Given the description of an element on the screen output the (x, y) to click on. 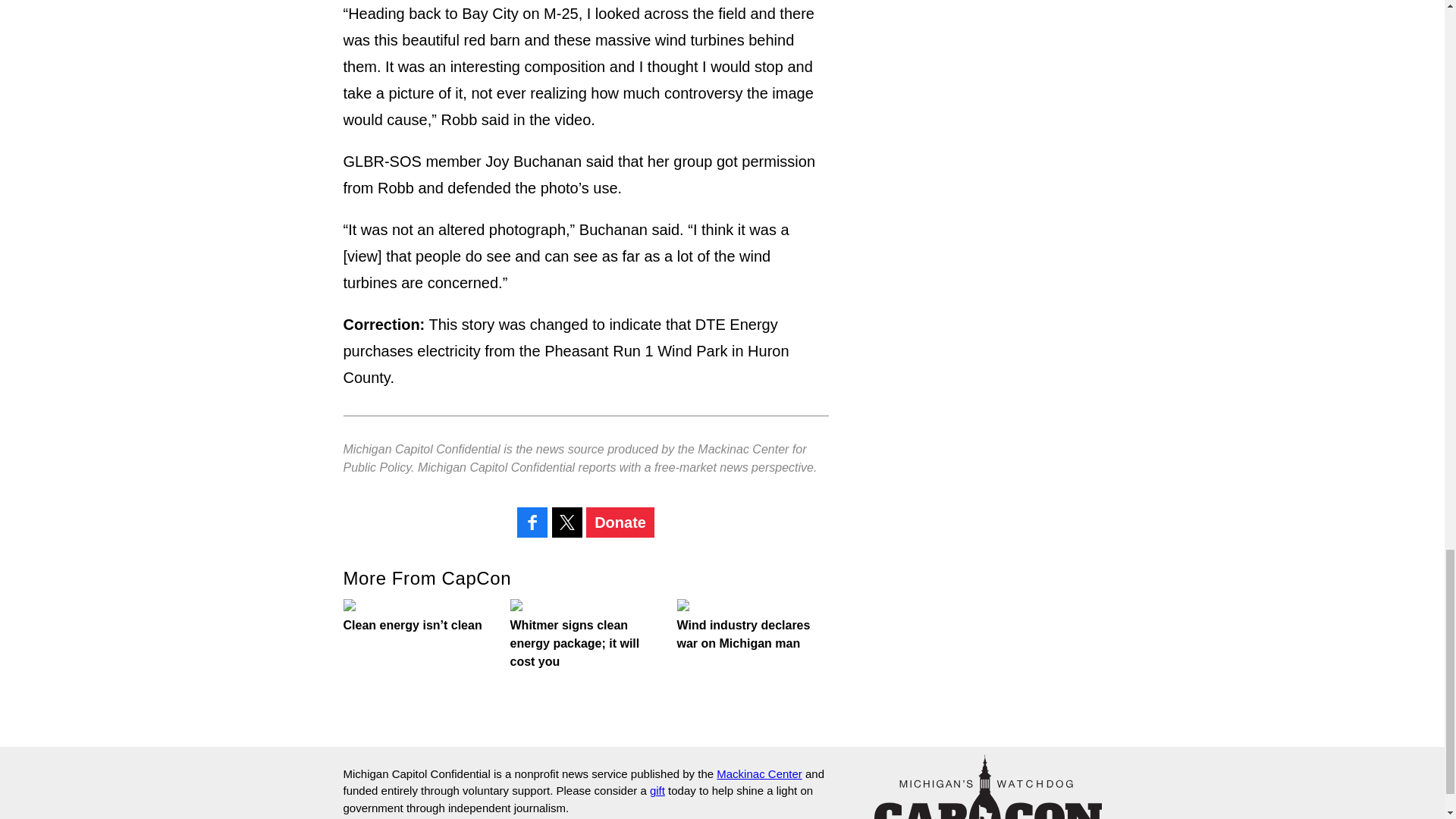
Mackinac Center (759, 773)
Wind industry declares war on Michigan man (752, 624)
gift (657, 789)
Whitmer signs clean energy package; it will cost you (585, 634)
Donate (619, 521)
